Given the description of an element on the screen output the (x, y) to click on. 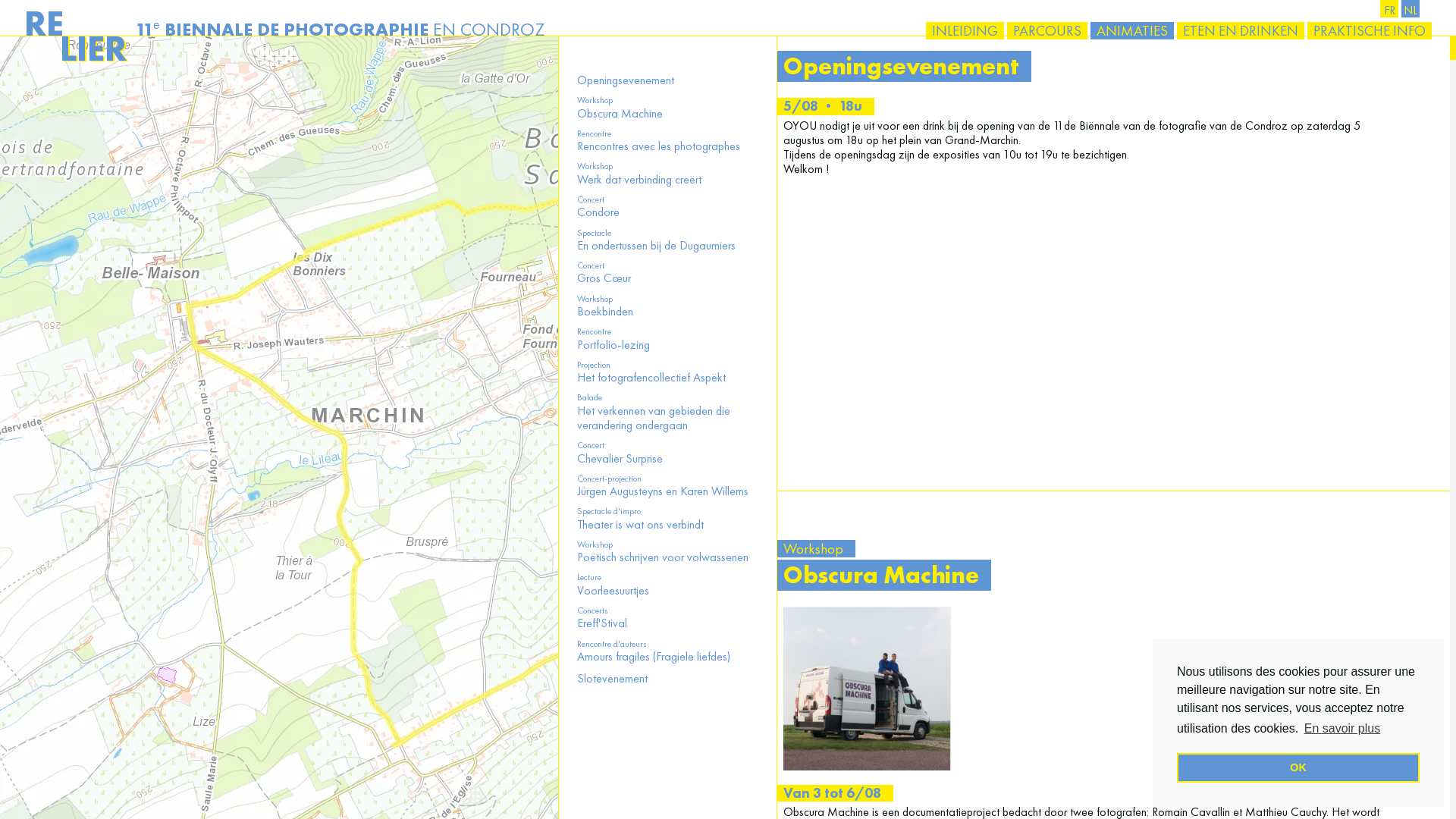
Amours fragiles (Fragiele liefdes) Element type: text (653, 656)
Openingsevenement Element type: text (625, 79)
En ondertussen bij de Dugaumiers Element type: text (656, 245)
Portfolio-lezing Element type: text (613, 344)
Chevalier Surprise Element type: text (619, 458)
Obscura Machine Element type: text (619, 113)
Slotevenement Element type: text (612, 678)
RELIER 11e BIENNALE DE PHOTOGRAPHIE EN CONDROZ Element type: text (284, 28)
NL Element type: text (1410, 8)
Boekbinden Element type: text (605, 311)
ANIMATIES Element type: text (1131, 30)
Condore Element type: text (598, 211)
ETEN EN DRINKEN Element type: text (1240, 30)
En savoir plus Element type: text (1342, 728)
Rencontres avec les photographes Element type: text (658, 145)
PRAKTISCHE INFO Element type: text (1369, 30)
Voorleesuurtjes Element type: text (613, 590)
INLEIDING Element type: text (964, 30)
Ereff'Stival Element type: text (602, 622)
OK Element type: text (1297, 767)
Theater is wat ons verbindt Element type: text (640, 524)
PARCOURS Element type: text (1047, 30)
Het verkennen van gebieden die verandering ondergaan Element type: text (653, 417)
FR Element type: text (1389, 8)
